Given the description of an element on the screen output the (x, y) to click on. 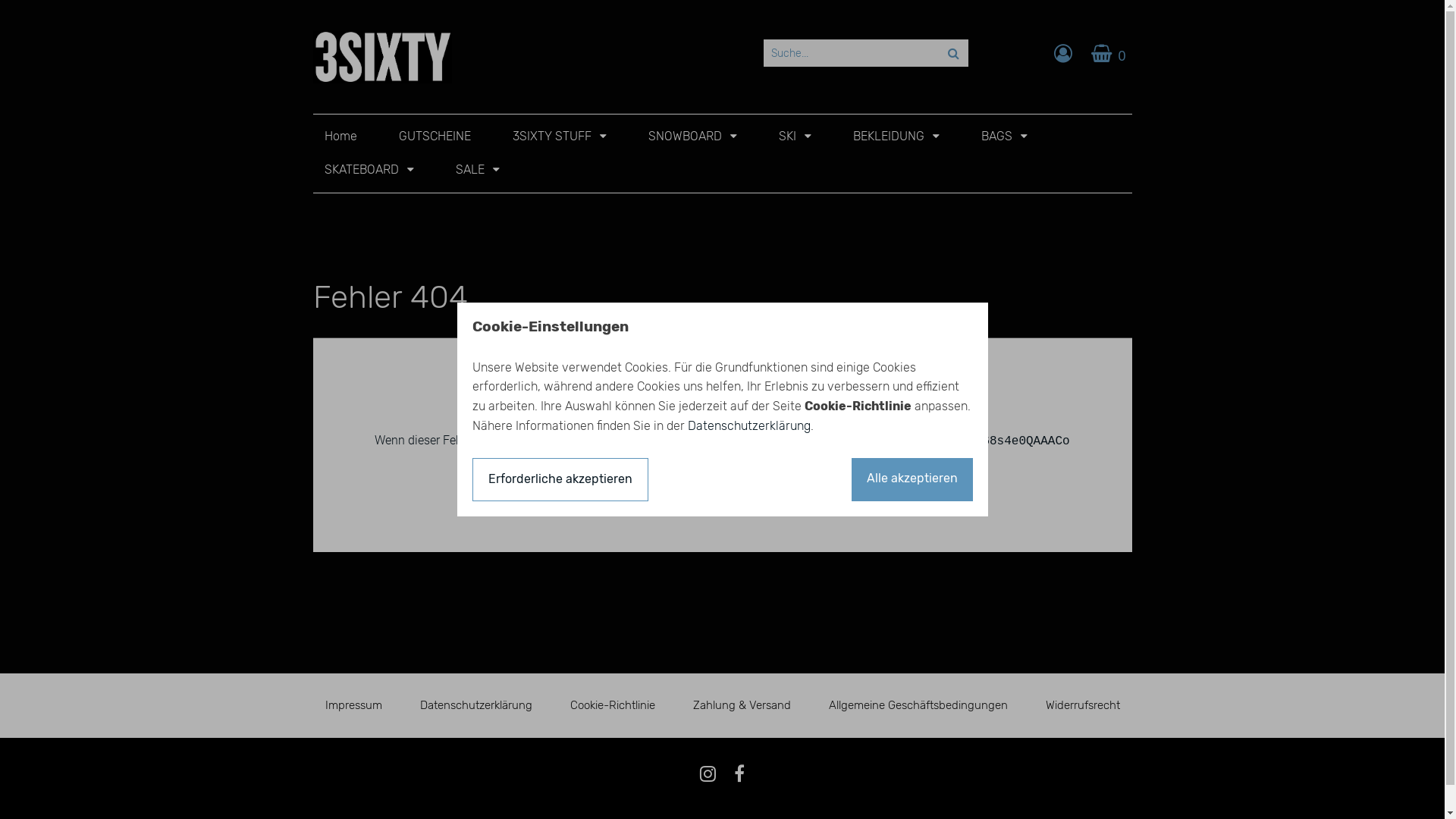
SNOWBOARD Element type: text (691, 135)
Widerrufsrecht Element type: text (1081, 705)
Suche Element type: text (952, 52)
Home Element type: text (340, 135)
3SIXTY Element type: hover (381, 56)
BAGS Element type: text (1004, 135)
GUTSCHEINE Element type: text (434, 135)
Alle akzeptieren Element type: text (911, 479)
BEKLEIDUNG Element type: text (895, 135)
SKATEBOARD Element type: text (369, 169)
Erforderliche akzeptieren Element type: text (559, 479)
SALE Element type: text (476, 169)
Zahlung & Versand Element type: text (741, 705)
3SIXTY STUFF Element type: text (559, 135)
Warenkorb anzeigen. Sie haben 0 Artikel im Warenkorb.
0 Element type: text (1111, 52)
Cookie-Richtlinie Element type: text (612, 705)
Impressum Element type: text (352, 705)
SKI Element type: text (794, 135)
